Given the description of an element on the screen output the (x, y) to click on. 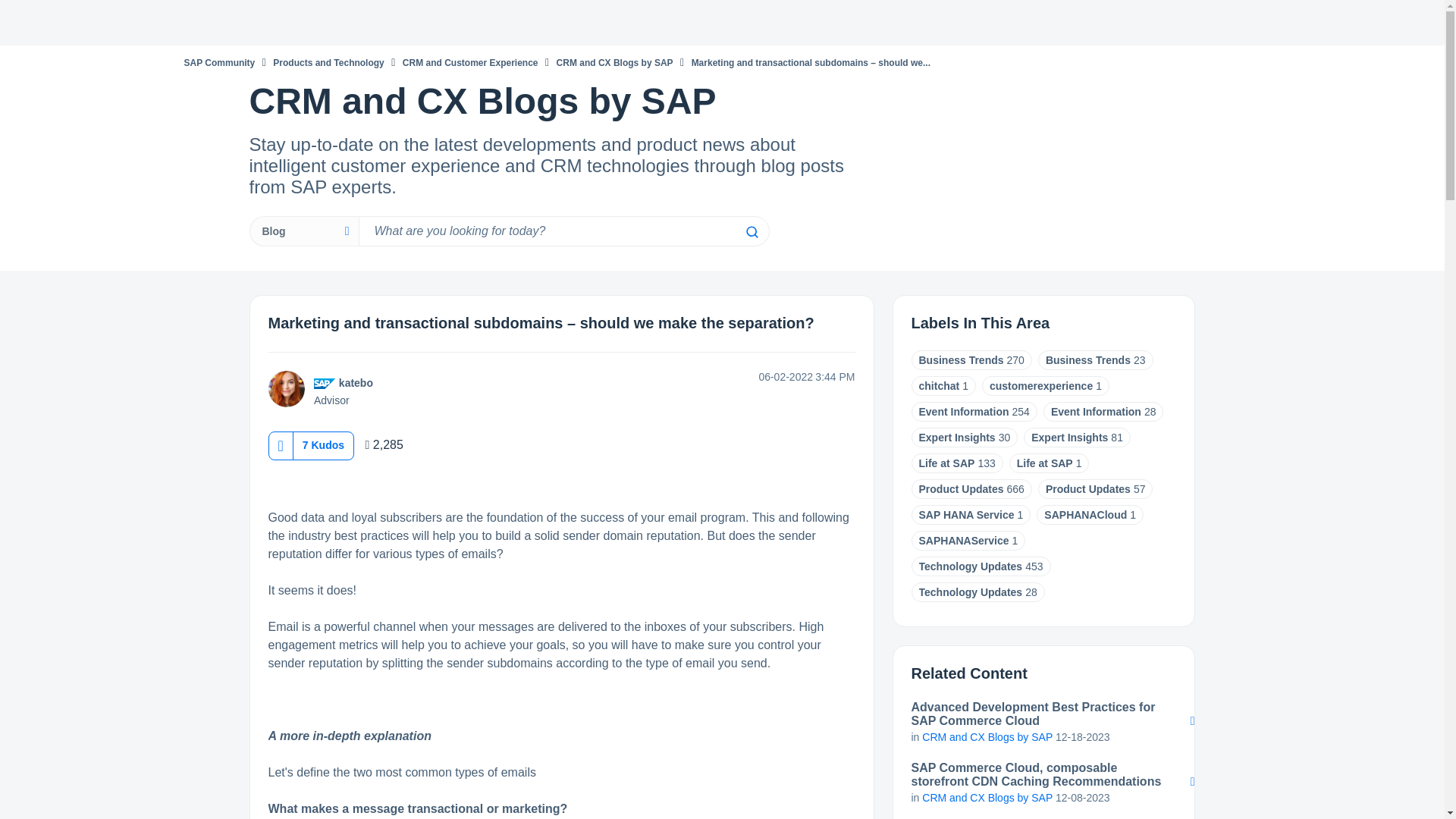
Event Information (963, 411)
Advisor (325, 383)
SAP Community (218, 62)
Expert Insights (1069, 437)
chitchat (938, 386)
Business Trends (1088, 359)
Business Trends (961, 359)
customerexperience (1041, 386)
CRM and CX Blogs by SAP (614, 62)
katebo (285, 389)
Search (563, 231)
Posted on (757, 377)
Search (750, 232)
7 Kudos (323, 444)
Search (750, 232)
